Given the description of an element on the screen output the (x, y) to click on. 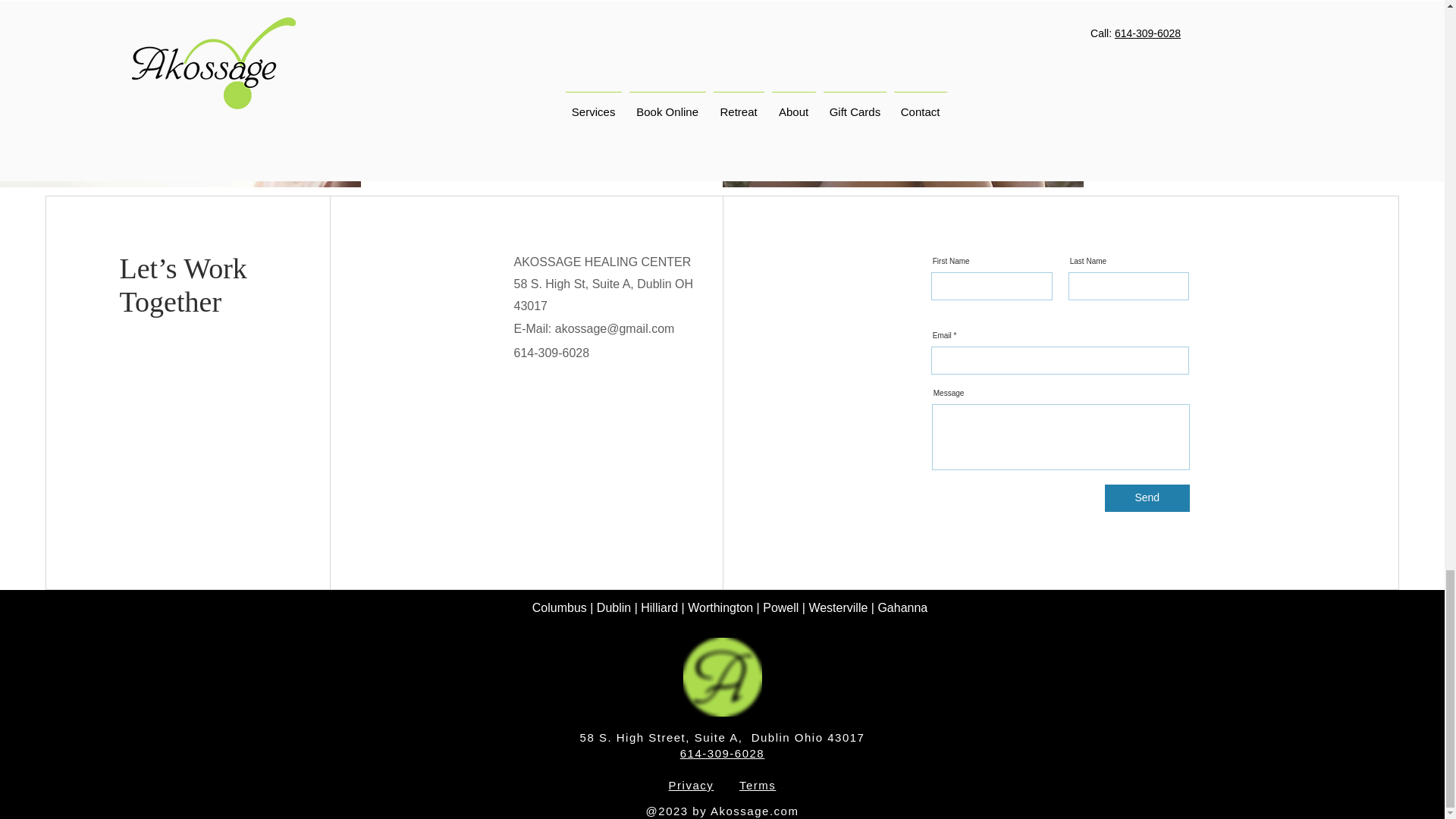
Privacy (691, 784)
Learn More (1262, 88)
614-309-6028 (721, 753)
Send (1147, 497)
Learn More (536, 110)
Terms (757, 784)
